Given the description of an element on the screen output the (x, y) to click on. 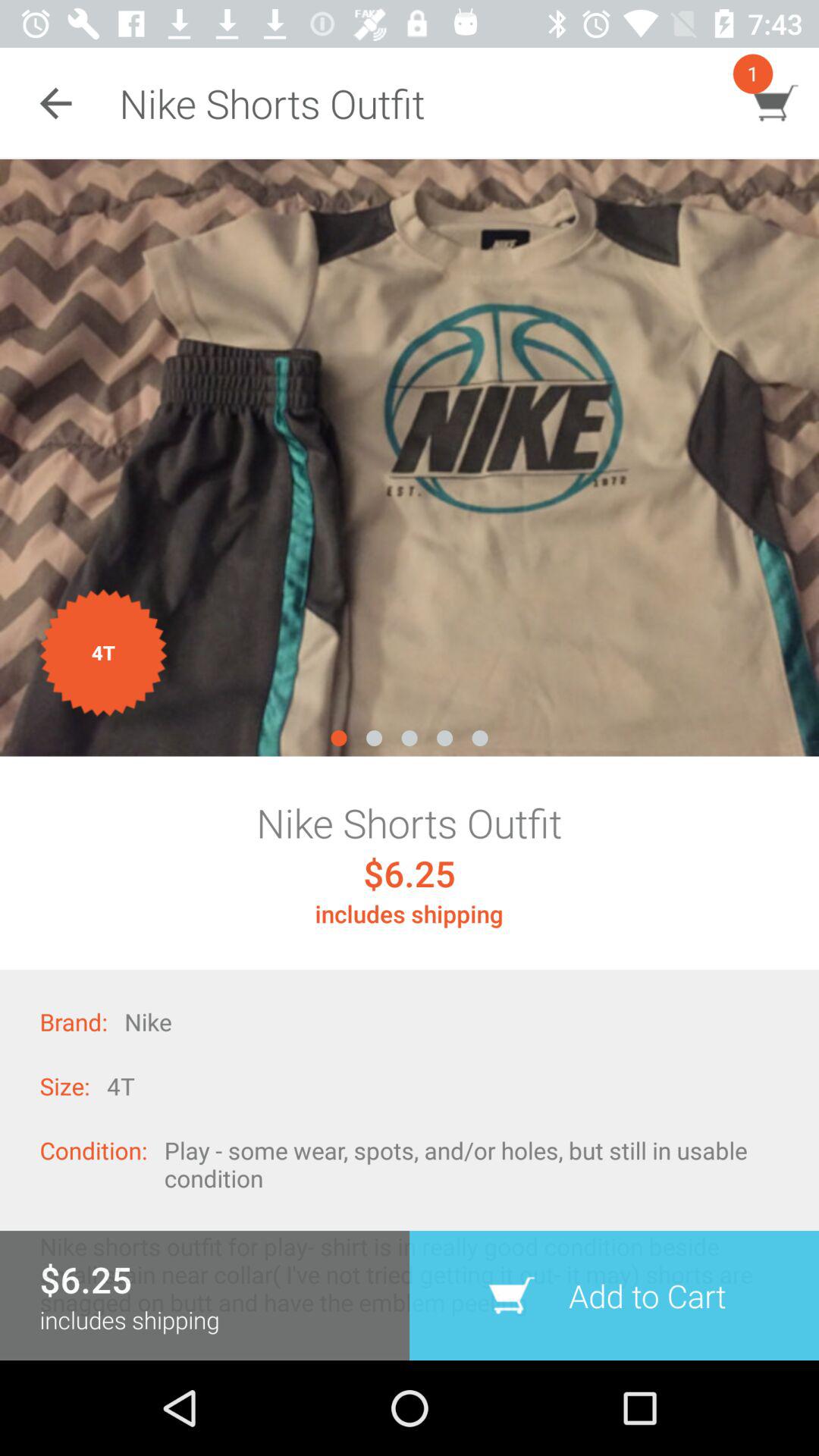
turn on item next to includes shipping icon (614, 1295)
